Given the description of an element on the screen output the (x, y) to click on. 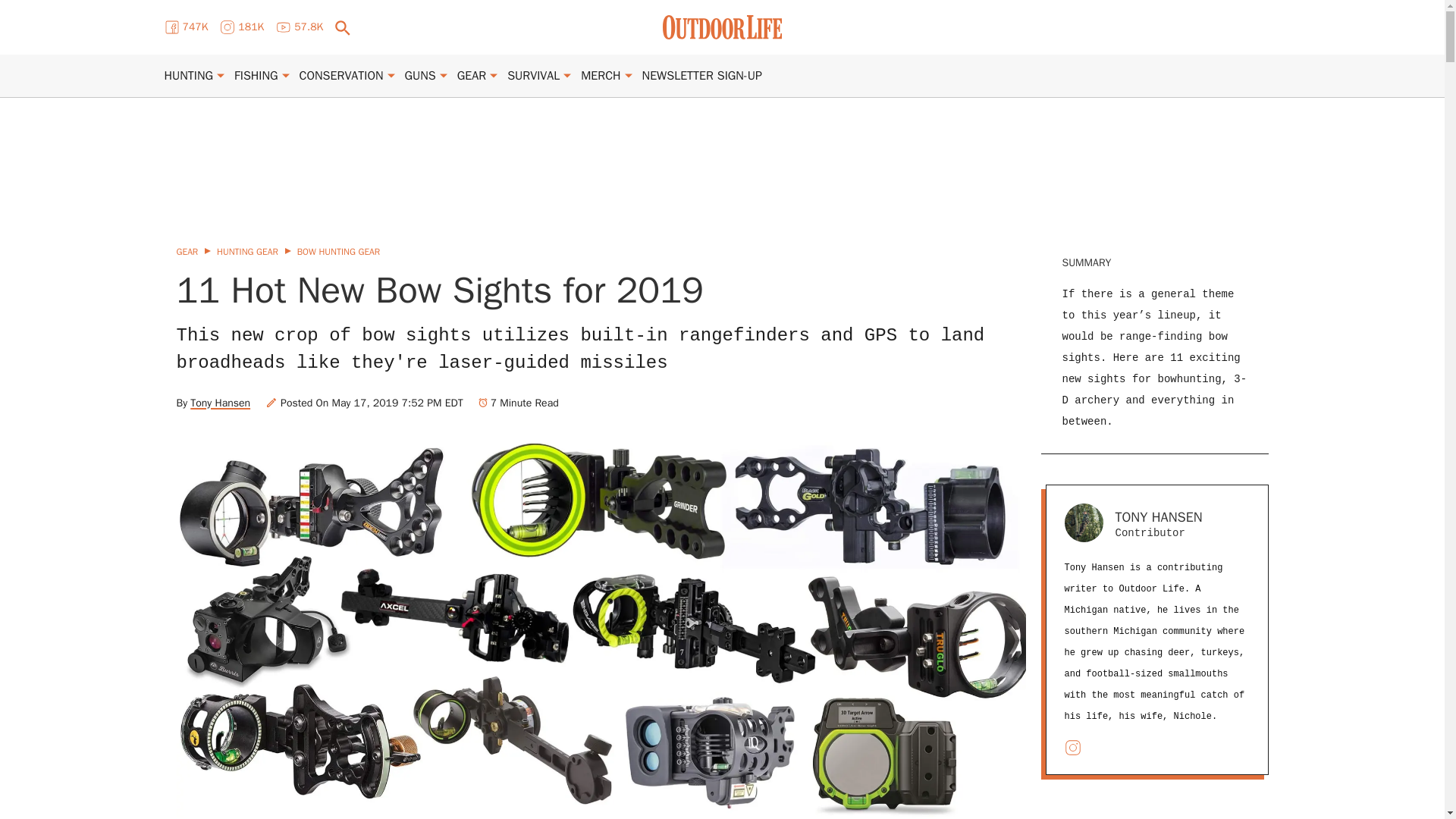
Gear (471, 75)
Merch (600, 75)
Guns (419, 75)
Fishing (256, 75)
Hunting (187, 75)
Newsletter Sign-up (701, 75)
Conservation (341, 75)
Survival (532, 75)
